Given the description of an element on the screen output the (x, y) to click on. 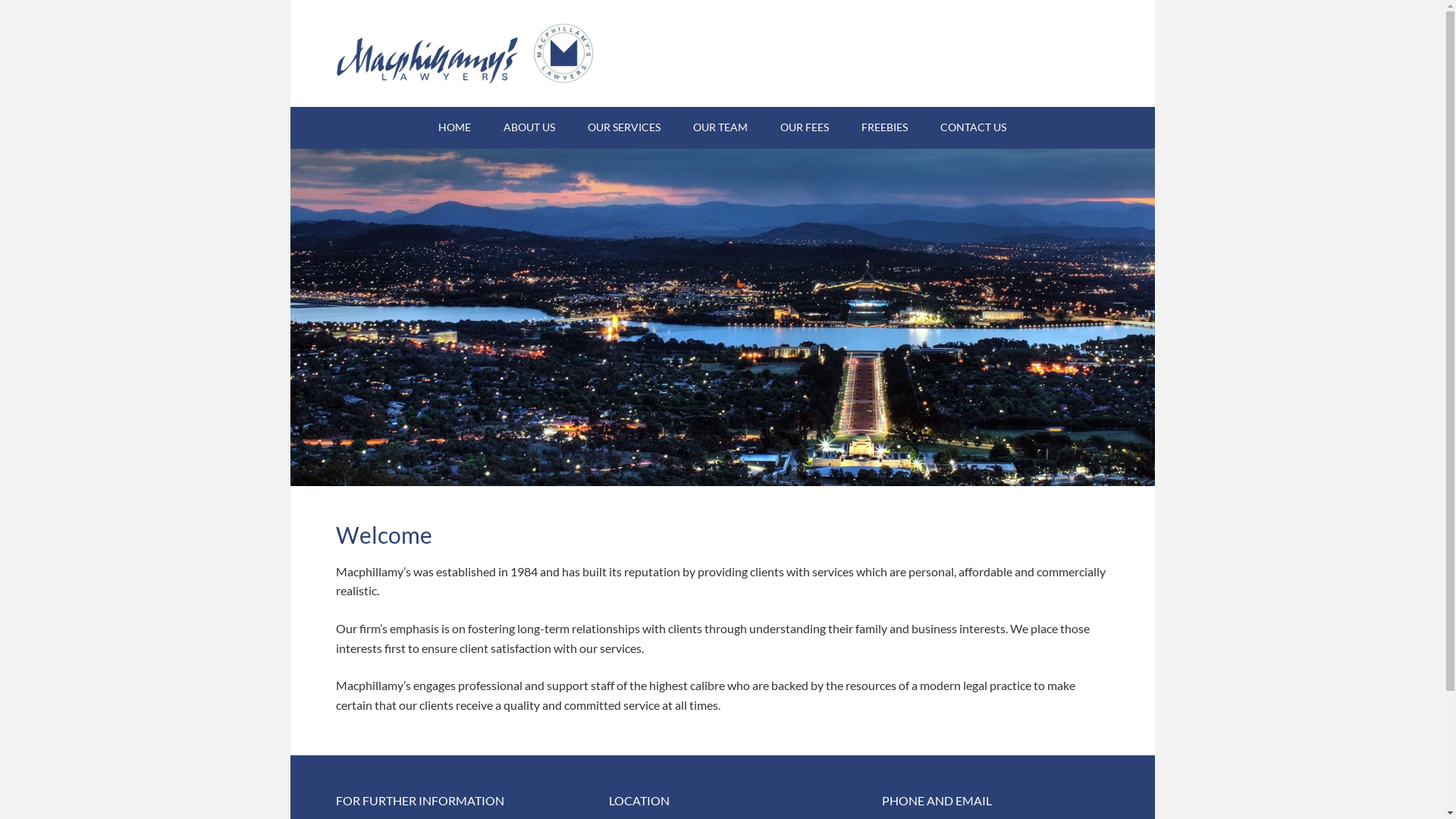
Macphillamy's Lawyers Element type: hover (464, 53)
OUR SERVICES Element type: text (623, 126)
FREEBIES Element type: text (884, 126)
Skip to primary navigation Element type: text (289, 0)
OUR FEES Element type: text (804, 126)
CONTACT US Element type: text (973, 126)
HOME Element type: text (454, 126)
OUR TEAM Element type: text (719, 126)
ABOUT US Element type: text (529, 126)
